Given the description of an element on the screen output the (x, y) to click on. 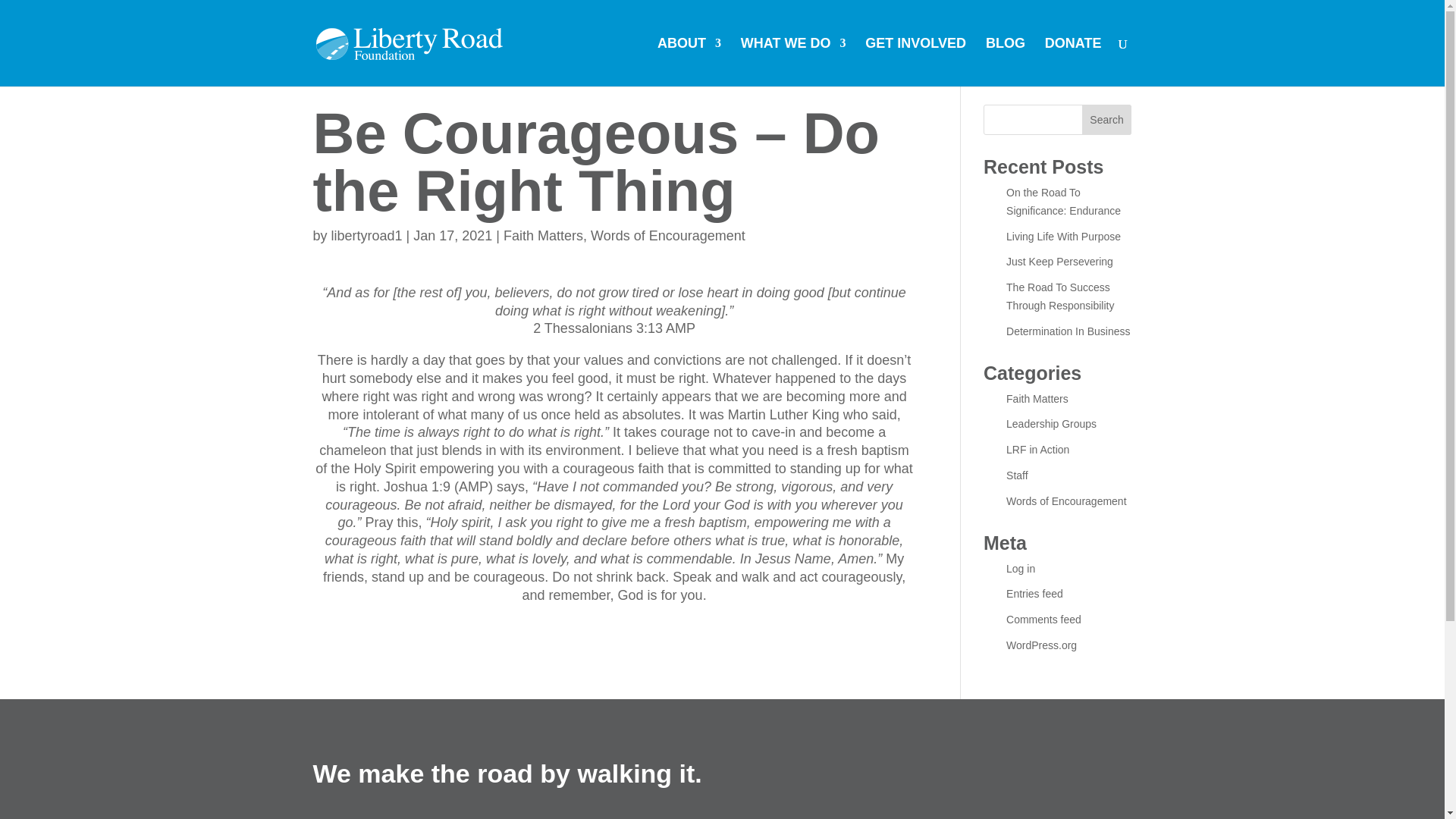
Search (1106, 119)
Faith Matters (543, 235)
Determination In Business (1067, 331)
Posts by libertyroad1 (367, 235)
Living Life With Purpose (1063, 236)
Search (1106, 119)
Words of Encouragement (668, 235)
WHAT WE DO (793, 61)
GET INVOLVED (915, 61)
On the Road To Significance: Endurance (1063, 201)
Just Keep Persevering (1059, 261)
DONATE (1073, 61)
libertyroad1 (367, 235)
ABOUT (689, 61)
The Road To Success Through Responsibility (1059, 296)
